Given the description of an element on the screen output the (x, y) to click on. 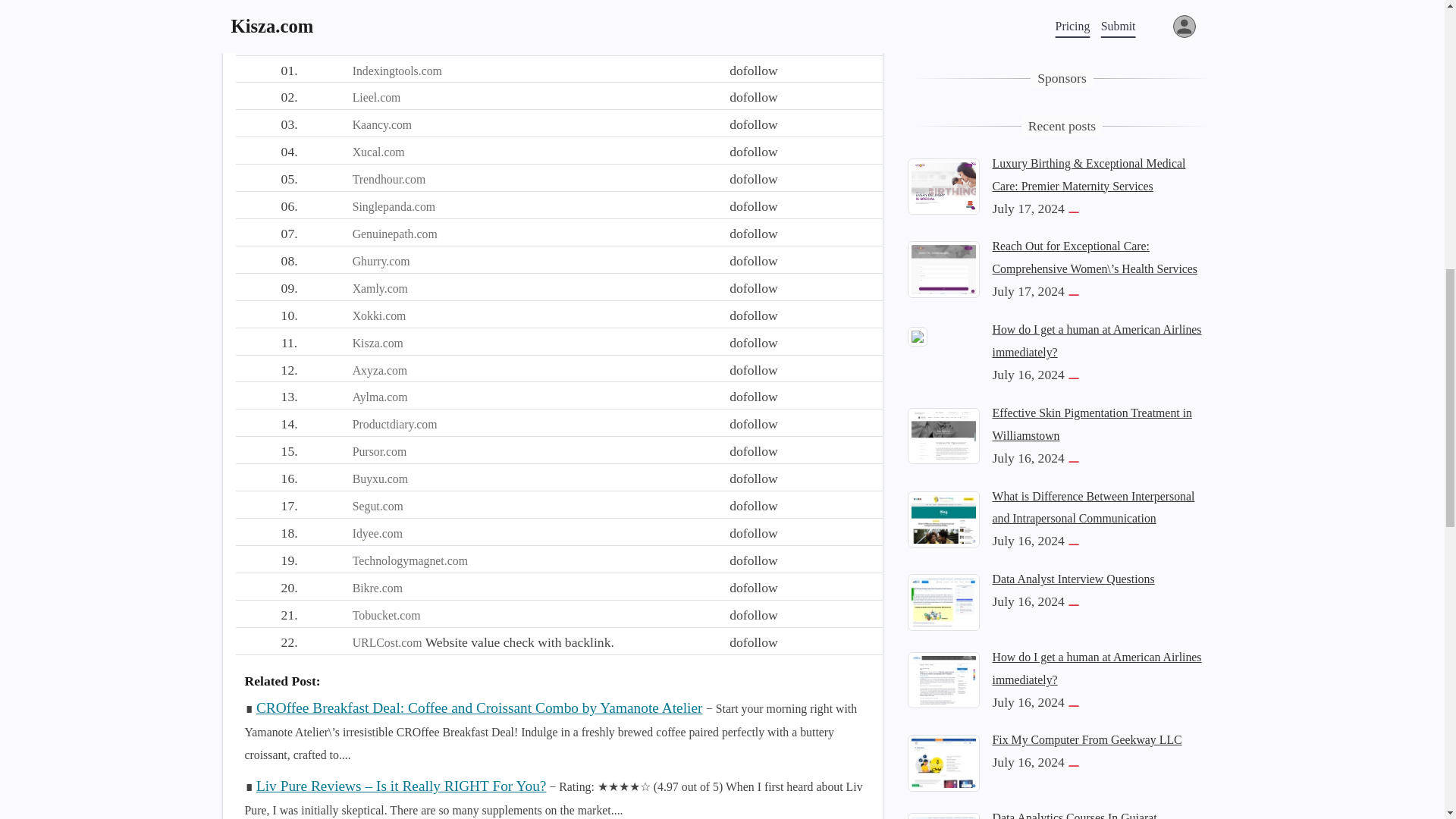
Xokki.com (379, 315)
Lieel.com (376, 97)
Trendhour.com (389, 178)
Productdiary.com (395, 423)
Singlepanda.com (393, 205)
Xucal.com (378, 151)
Pursor.com (379, 451)
Idyee.com (377, 533)
Kisza.com (377, 342)
Buyxu.com (379, 478)
Aylma.com (379, 396)
Kaancy.com (382, 124)
Technologymagnet.com (409, 560)
Indexingtools.com (397, 70)
Segut.com (377, 505)
